Given the description of an element on the screen output the (x, y) to click on. 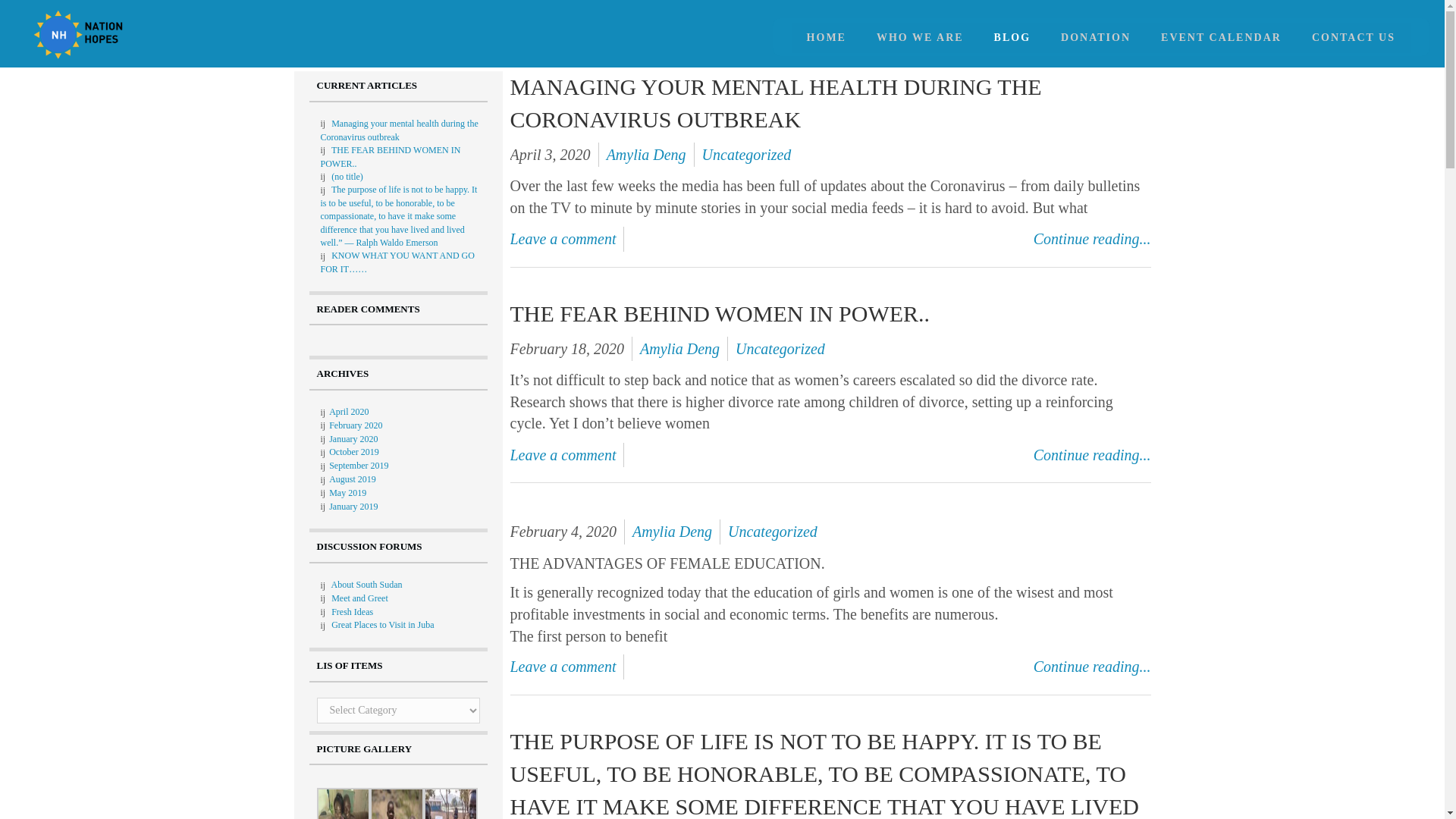
Amylia Deng (679, 348)
THE FEAR BEHIND WOMEN IN POWER.. (719, 313)
Managing your mental health during the Coronavirus outbreak (398, 129)
September 2019 (358, 465)
View all posts by Amylia Deng (679, 348)
THE FEAR BEHIND WOMEN IN POWER.. (390, 156)
January 2019 (353, 506)
BLOG (1011, 37)
Great Places to Visit in Juba (382, 624)
February 2020 (355, 425)
Managing your mental health during the Coronavirus outbreak (775, 102)
About South Sudan (365, 584)
Continue reading... (1092, 666)
View all posts by Amylia Deng (646, 154)
HOME (826, 37)
